Given the description of an element on the screen output the (x, y) to click on. 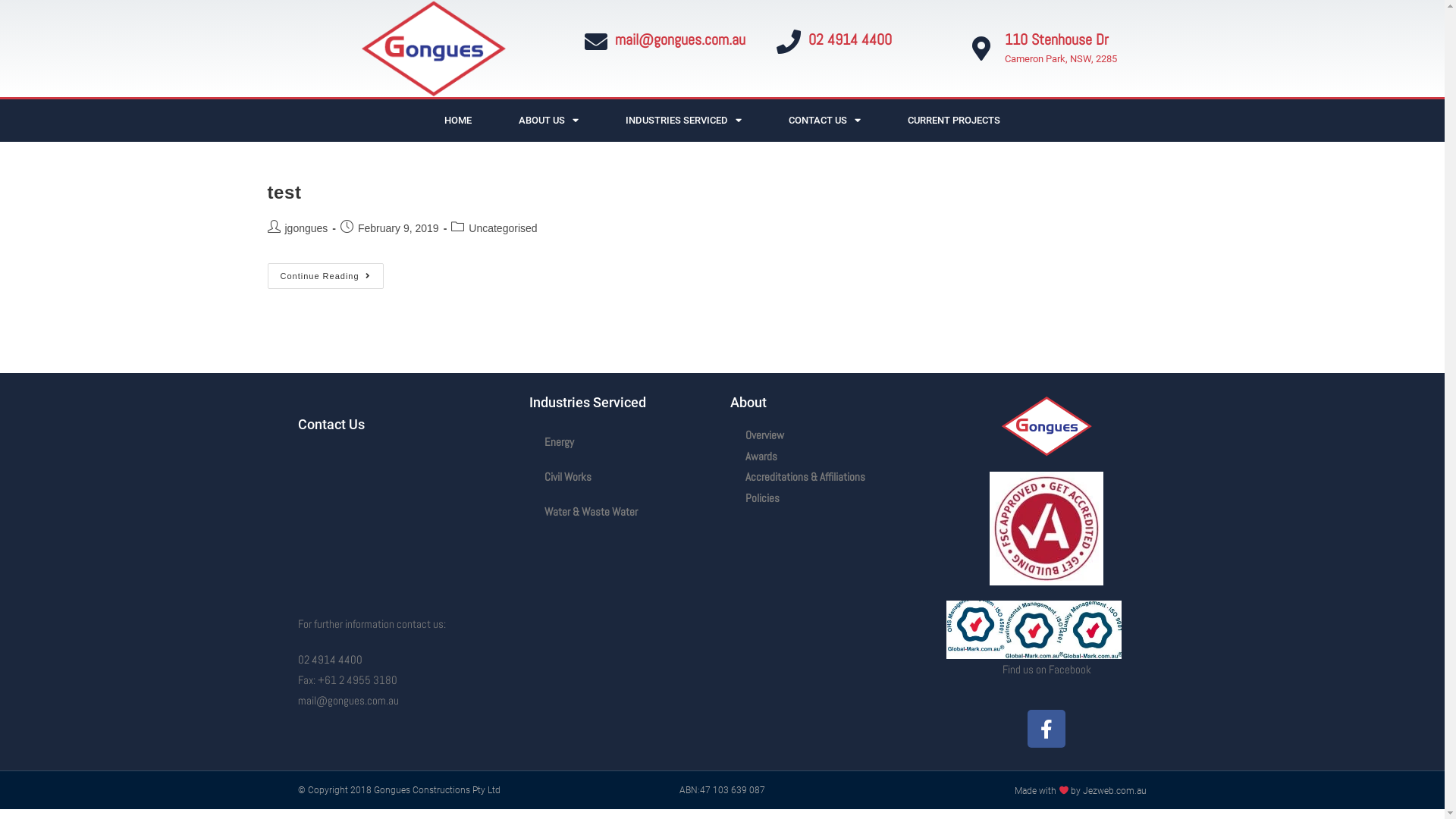
Continue Reading Element type: text (324, 275)
02 4914 4400 Element type: text (329, 659)
jgongues Element type: text (306, 228)
Policies Element type: text (829, 497)
Civil Works Element type: text (622, 476)
ABOUT US Element type: text (548, 120)
Uncategorised Element type: text (502, 228)
CURRENT PROJECTS Element type: text (953, 120)
INDUSTRIES SERVICED Element type: text (683, 120)
Accreditations & Affiliations Element type: text (829, 476)
Overview Element type: text (829, 434)
CONTACT US Element type: text (824, 120)
test Element type: text (283, 192)
mail@gongues.com.au Element type: text (347, 700)
Made with by Jezweb.com.au Element type: text (1080, 790)
HOME Element type: text (457, 120)
Gongues Constructions Element type: hover (397, 522)
Energy Element type: text (622, 441)
Awards Element type: text (829, 456)
Water & Waste Water Element type: text (622, 511)
mail@gongues.com.au Element type: text (679, 39)
ABN:47 103 639 087 Element type: text (722, 789)
110 Stenhouse Dr Element type: text (1056, 39)
02 4914 4400 Element type: text (849, 39)
